Given the description of an element on the screen output the (x, y) to click on. 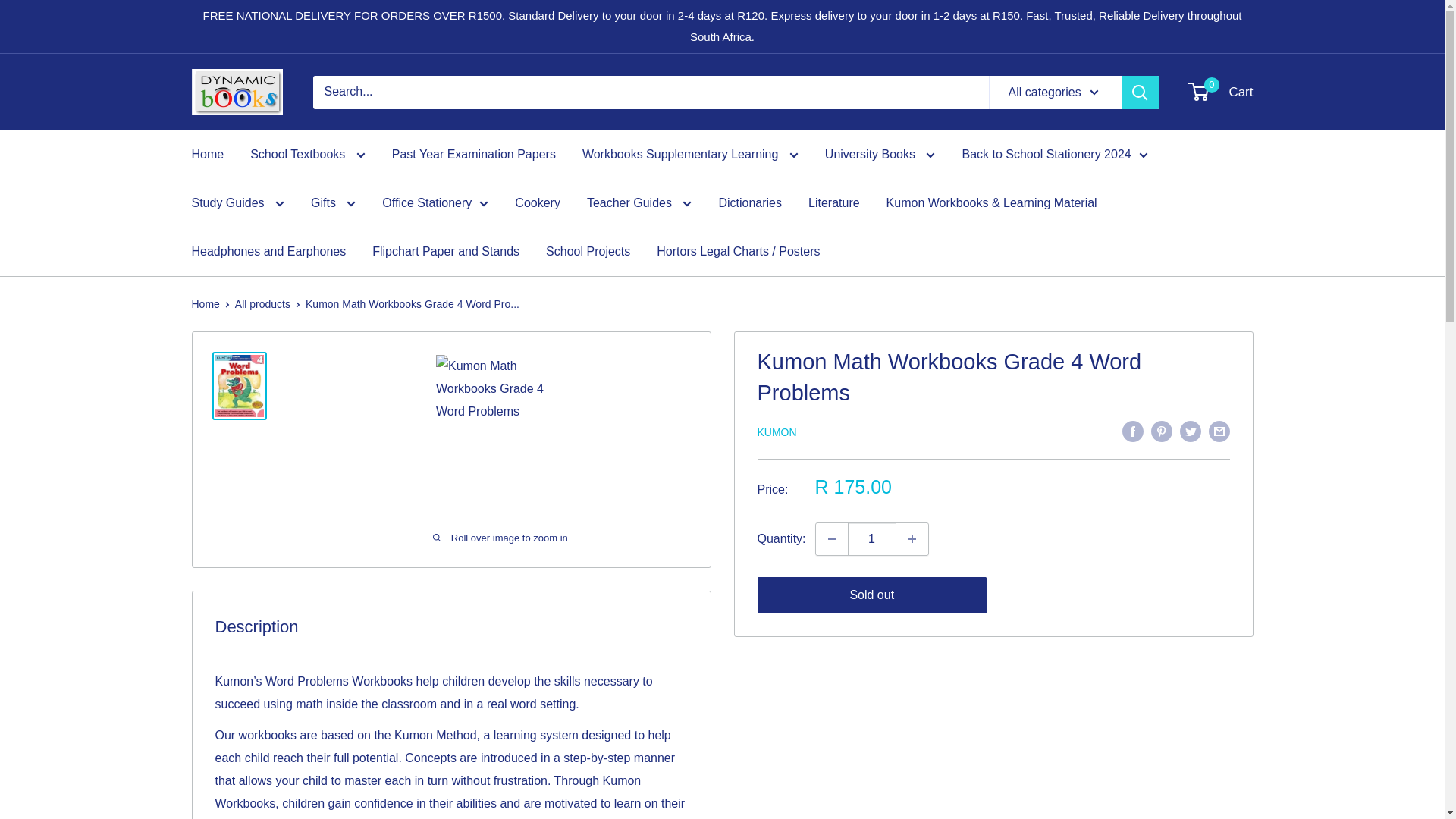
Increase quantity by 1 (912, 539)
1 (871, 539)
Decrease quantity by 1 (831, 539)
